Given the description of an element on the screen output the (x, y) to click on. 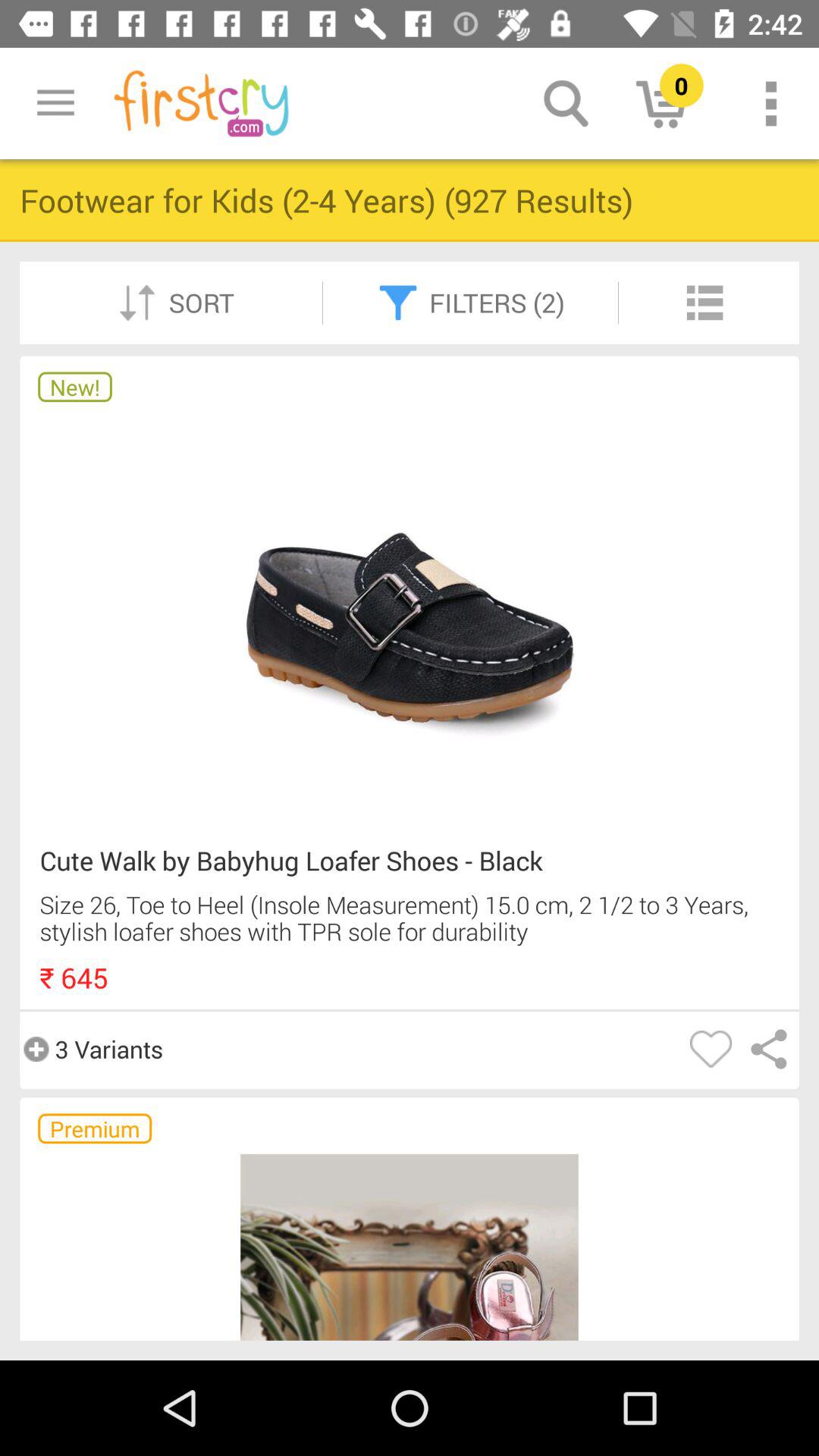
launch the icon above premium (91, 1049)
